Given the description of an element on the screen output the (x, y) to click on. 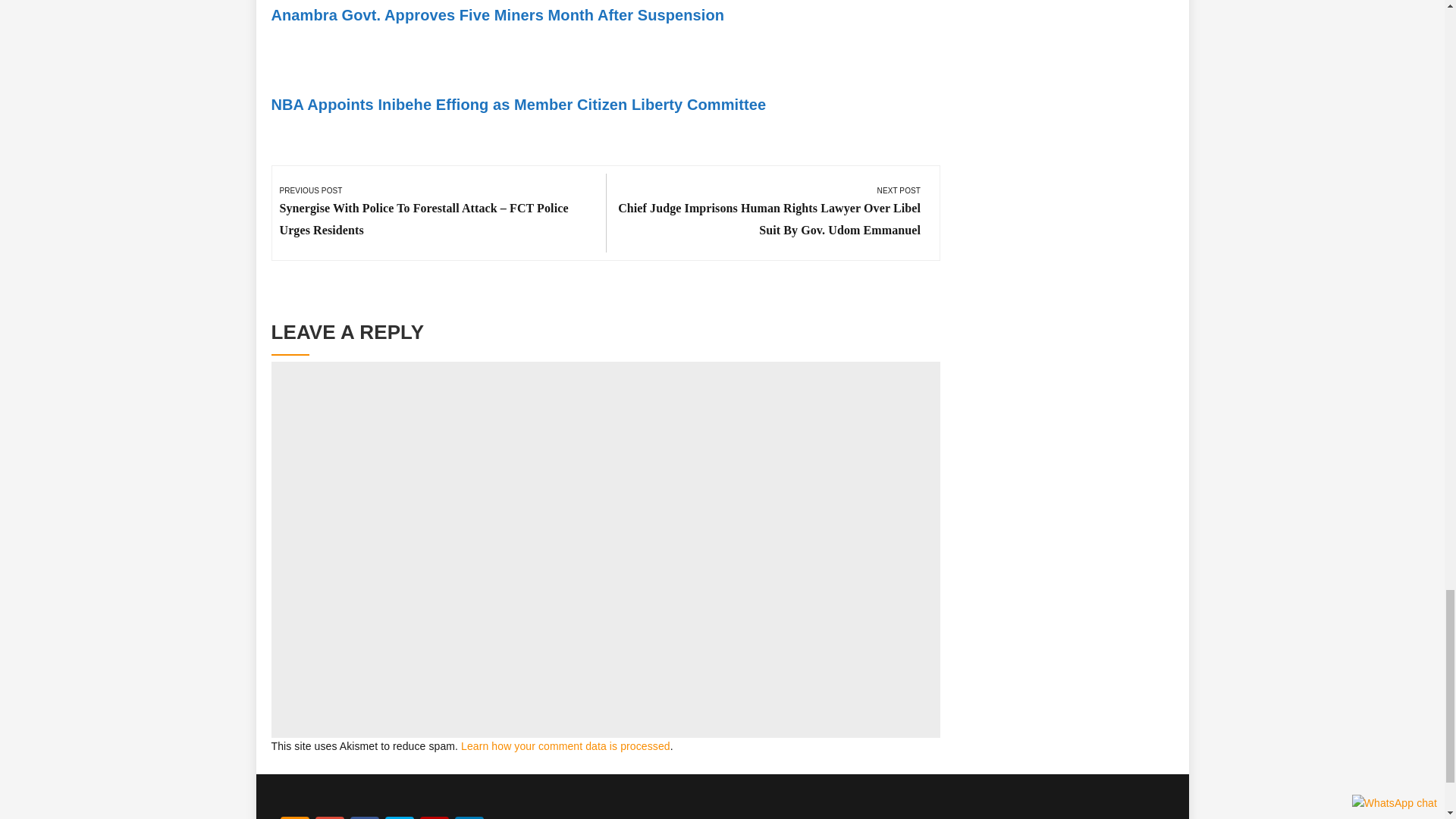
RSS Feed (294, 817)
Facebook (364, 817)
YouTube (434, 817)
Twitter (399, 817)
LinkdeIn (468, 817)
